Given the description of an element on the screen output the (x, y) to click on. 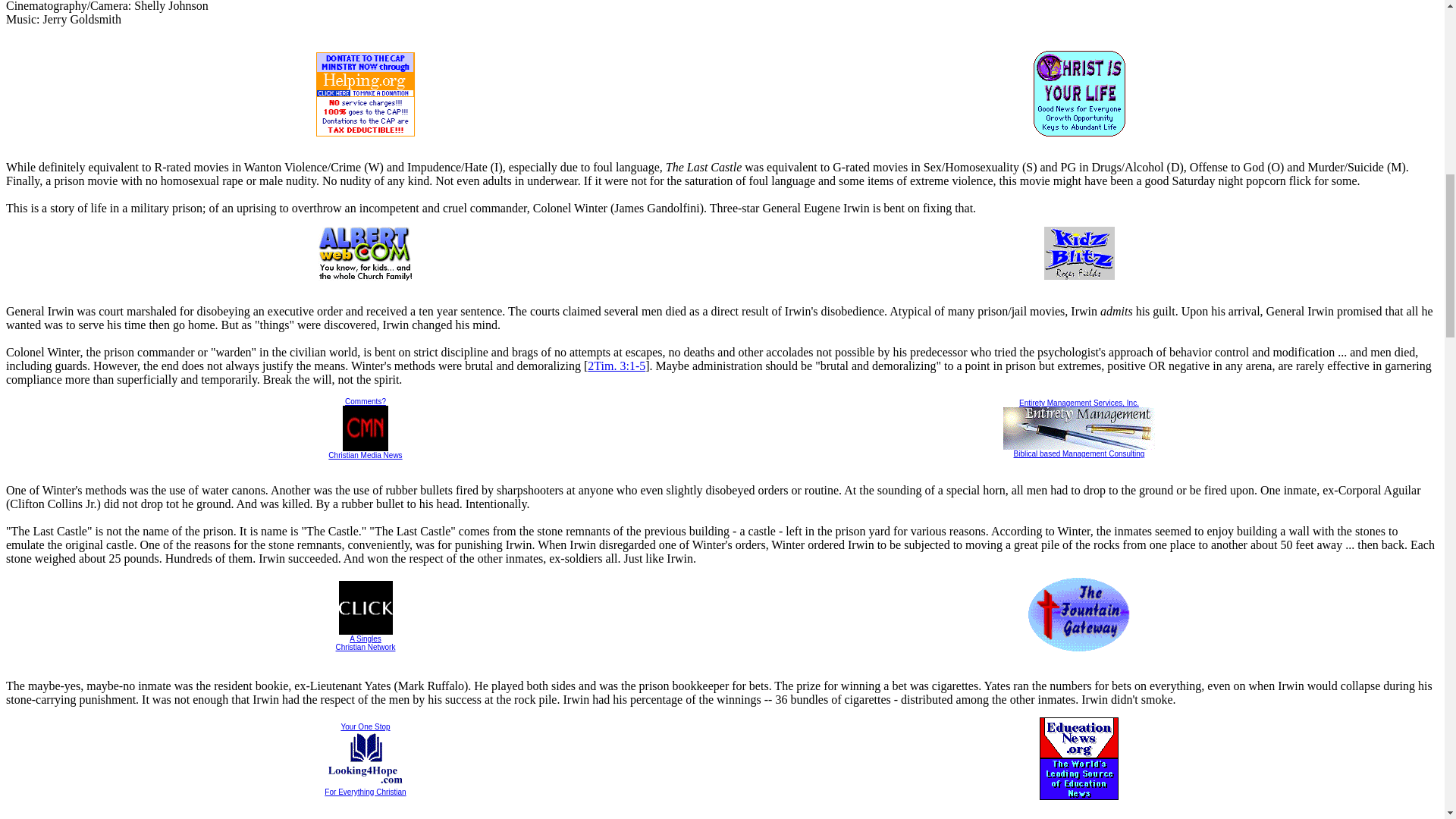
Comments? (365, 757)
2Tim. 3:1-5 (365, 401)
Christian Media News (616, 365)
